Given the description of an element on the screen output the (x, y) to click on. 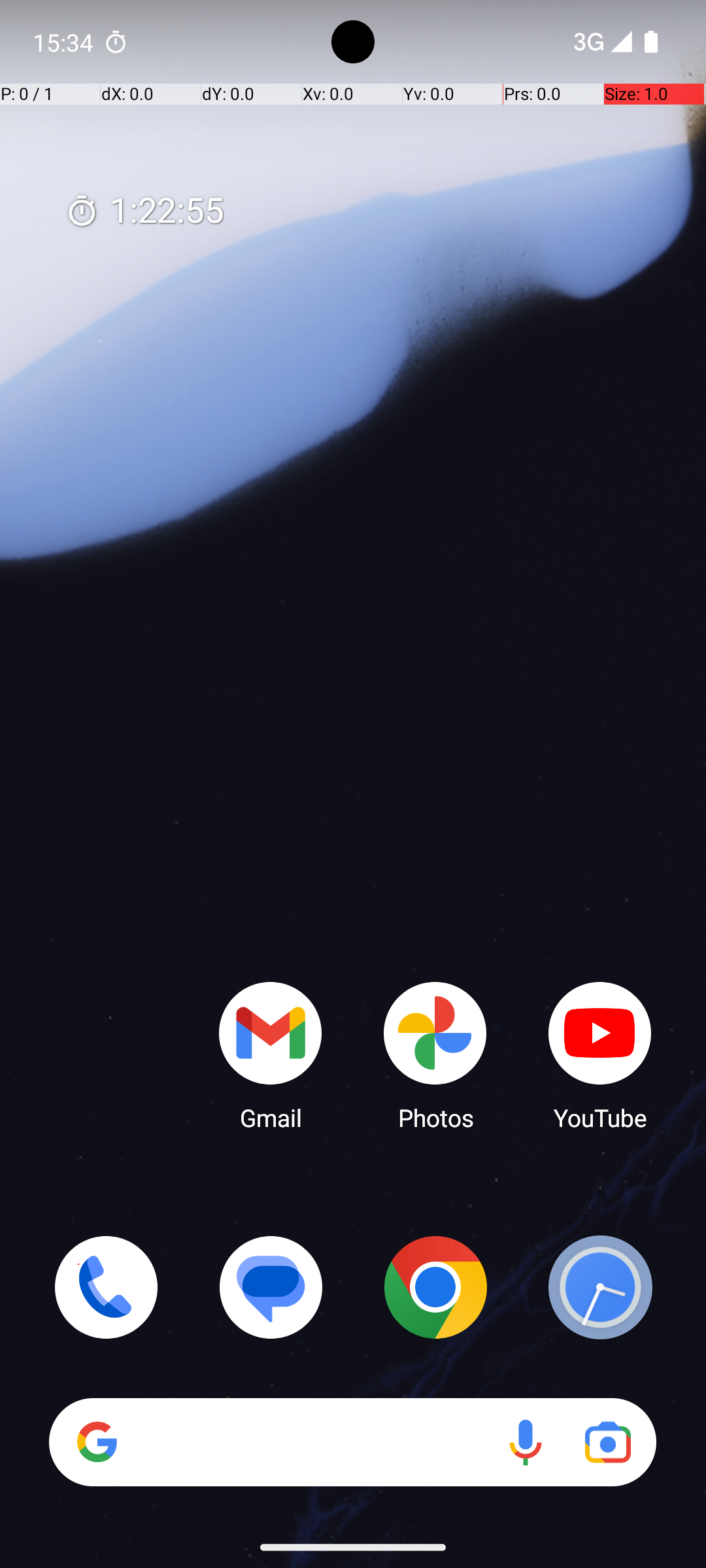
1:22:55 Element type: android.widget.TextView (144, 210)
